Given the description of an element on the screen output the (x, y) to click on. 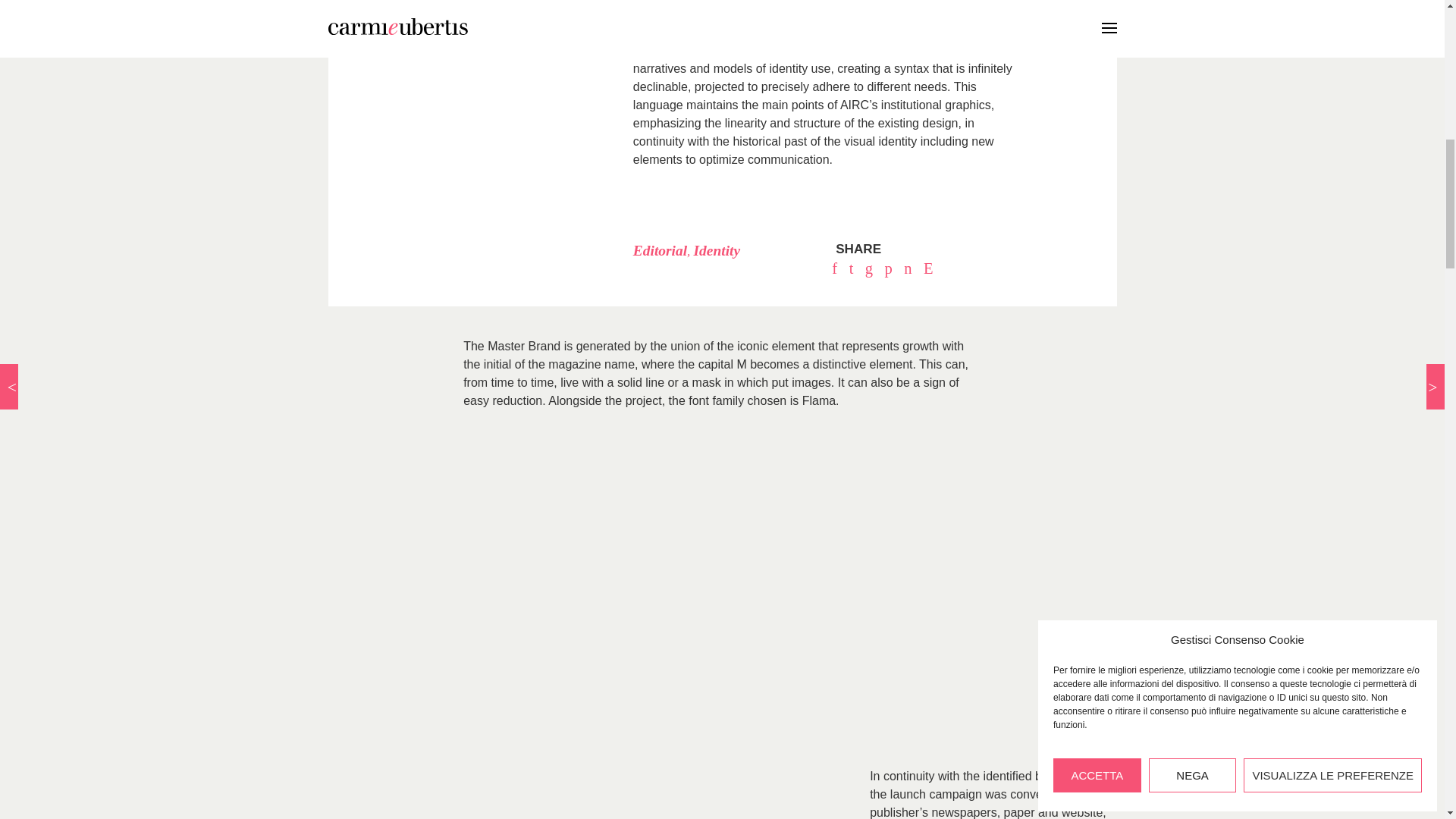
Editorial (660, 250)
Identity (717, 250)
